Given the description of an element on the screen output the (x, y) to click on. 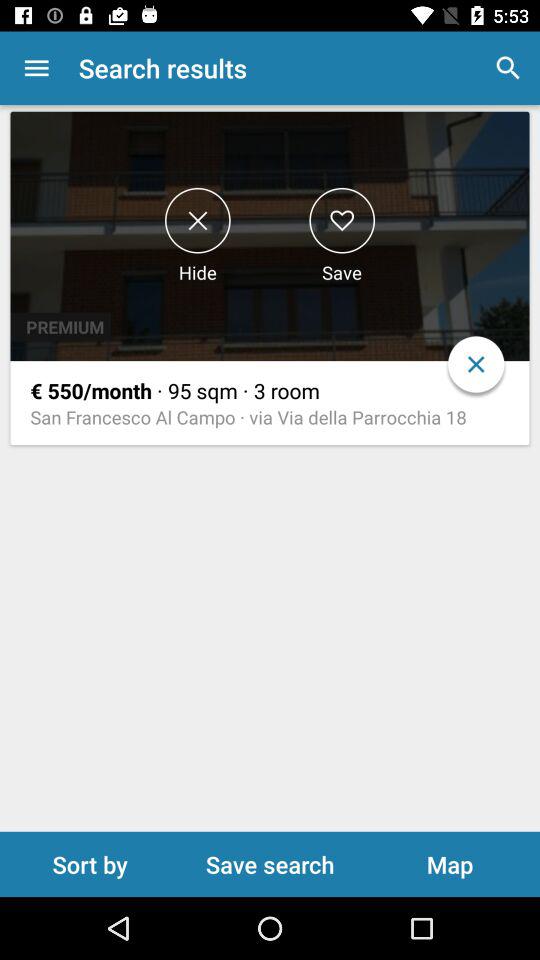
open the item at the bottom left corner (90, 863)
